Given the description of an element on the screen output the (x, y) to click on. 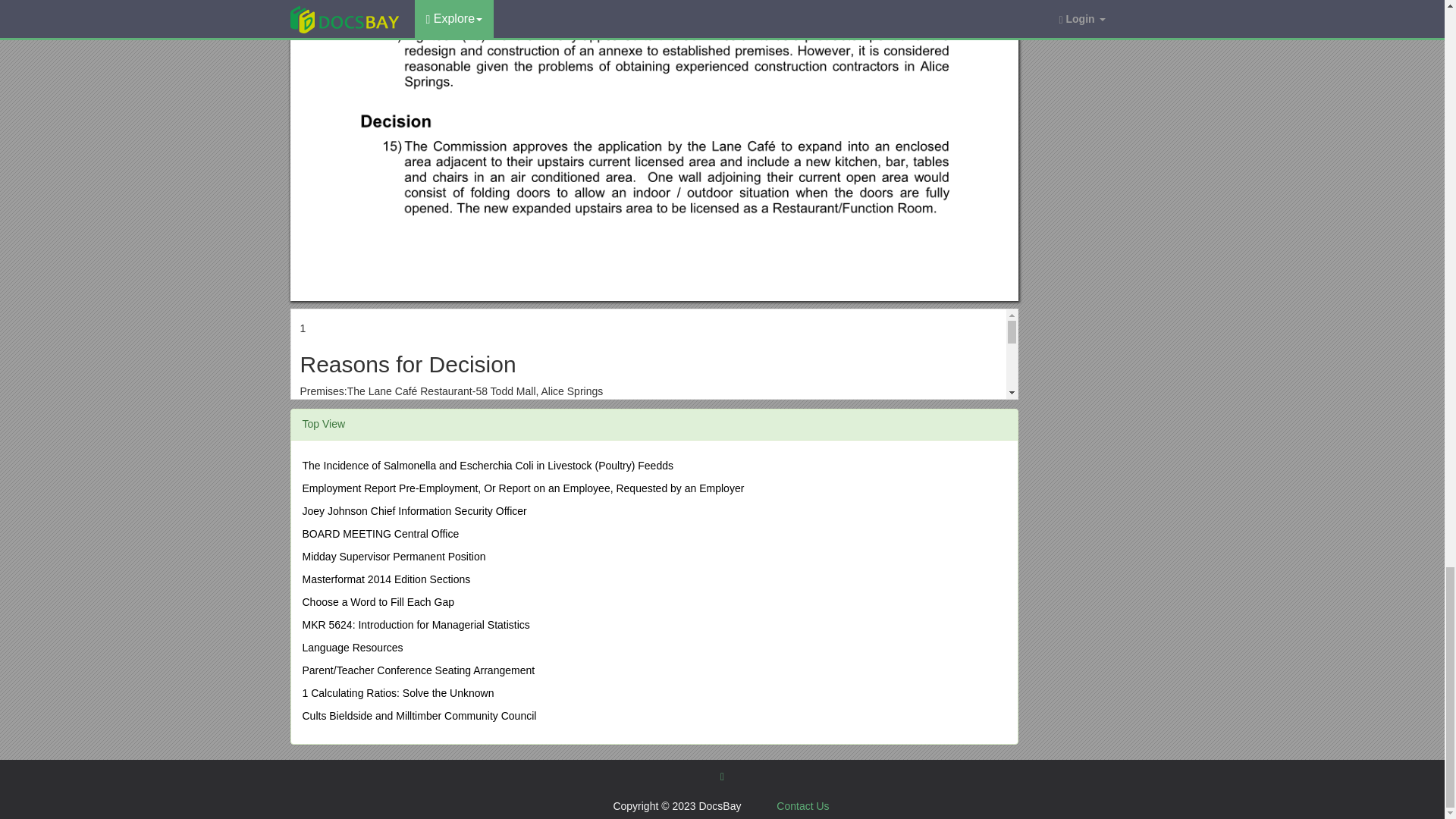
Masterformat 2014 Edition Sections (385, 579)
Language Resources (352, 647)
1 Calculating Ratios: Solve the Unknown (397, 693)
Cults Bieldside and Milltimber Community Council (418, 715)
Joey Johnson Chief Information Security Officer (413, 510)
Contact Us (802, 806)
BOARD MEETING Central Office (379, 533)
Midday Supervisor Permanent Position (392, 556)
Choose a Word to Fill Each Gap (377, 602)
